Given the description of an element on the screen output the (x, y) to click on. 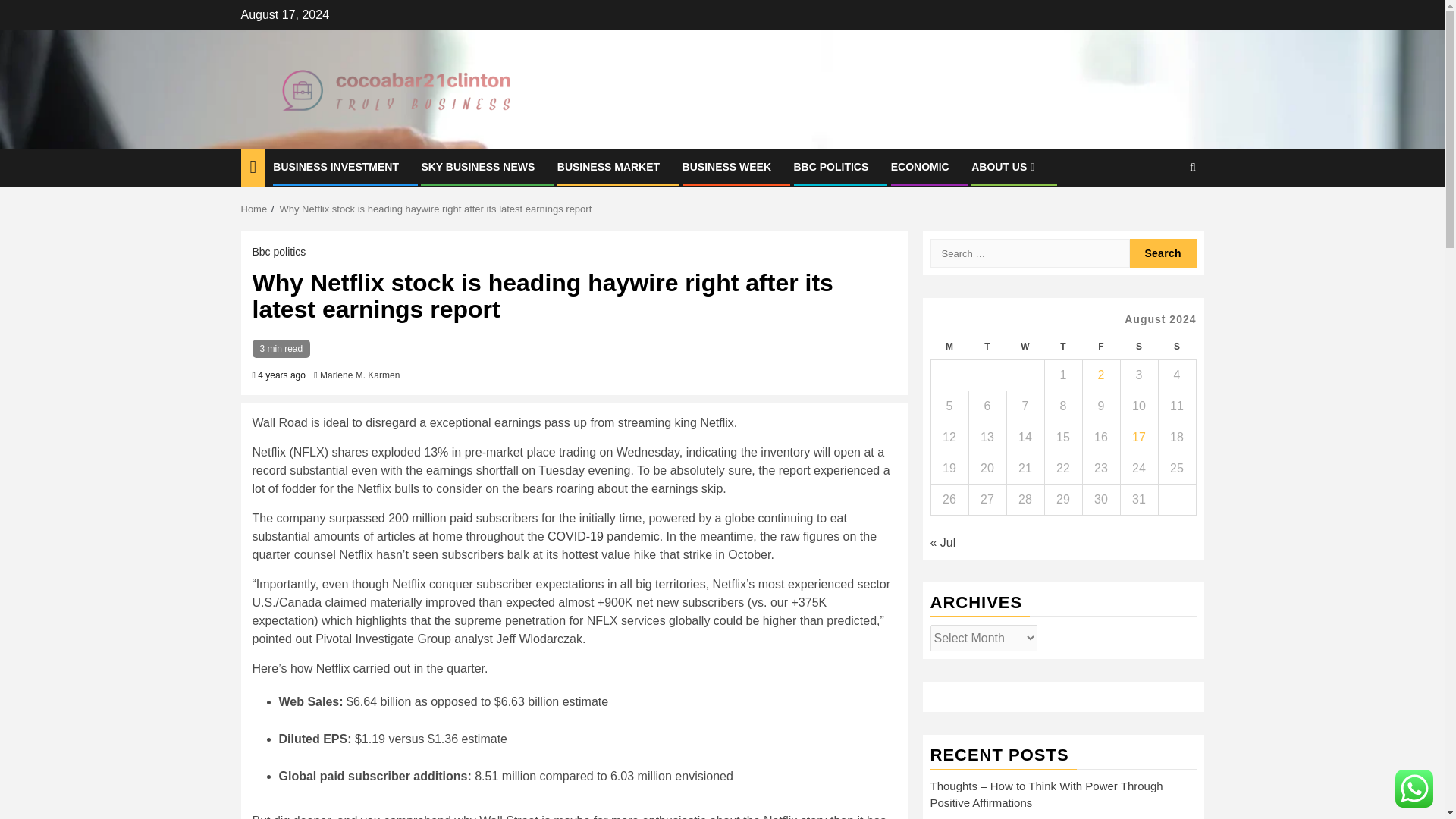
BUSINESS WEEK (726, 166)
ECONOMIC (920, 166)
Sunday (1176, 346)
BUSINESS MARKET (608, 166)
ABOUT US (1004, 166)
Bbc politics (278, 253)
Search (1162, 253)
BBC POLITICS (830, 166)
Wednesday (1024, 346)
